Given the description of an element on the screen output the (x, y) to click on. 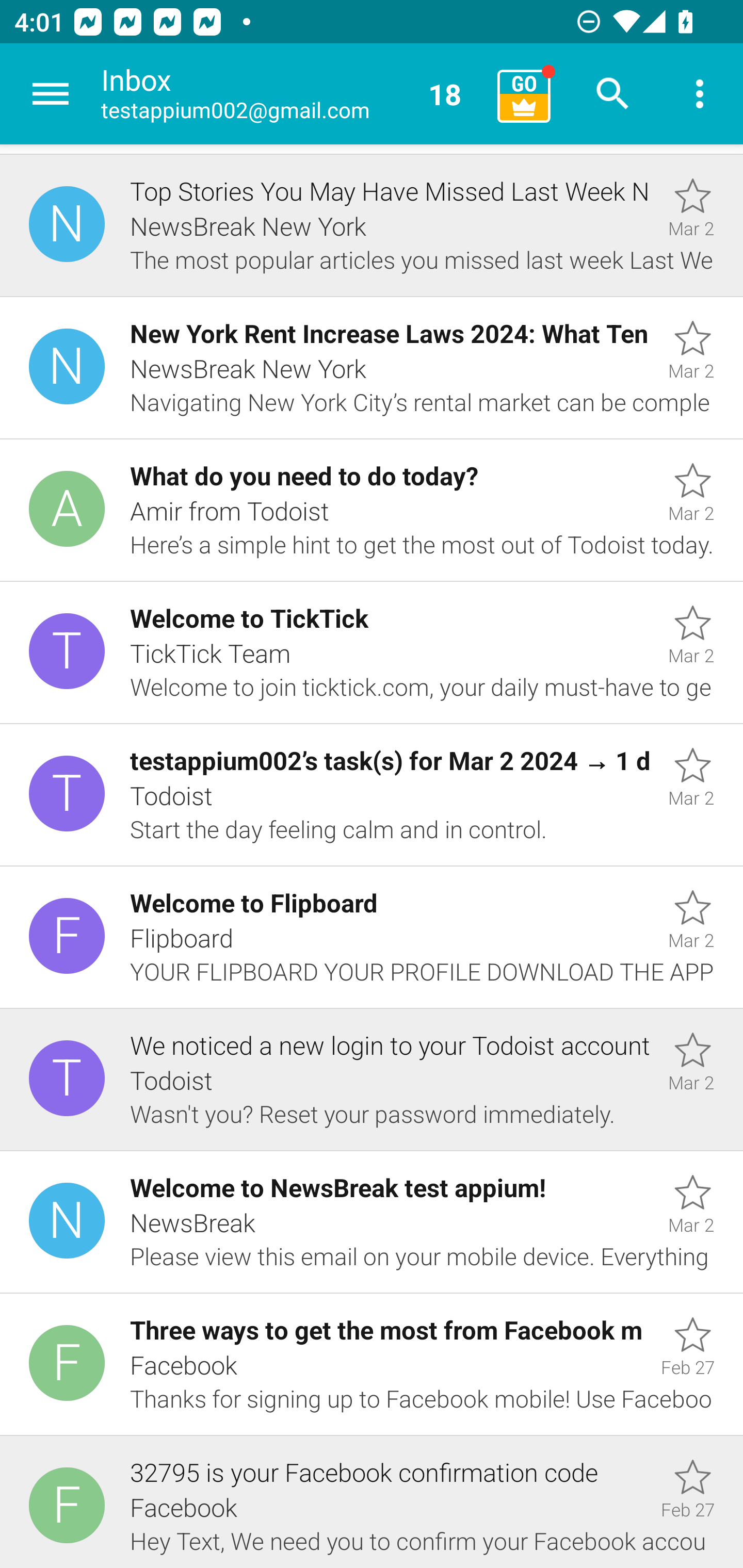
Navigate up (50, 93)
Inbox testappium002@gmail.com 18 (291, 93)
Search (612, 93)
More options (699, 93)
